Given the description of an element on the screen output the (x, y) to click on. 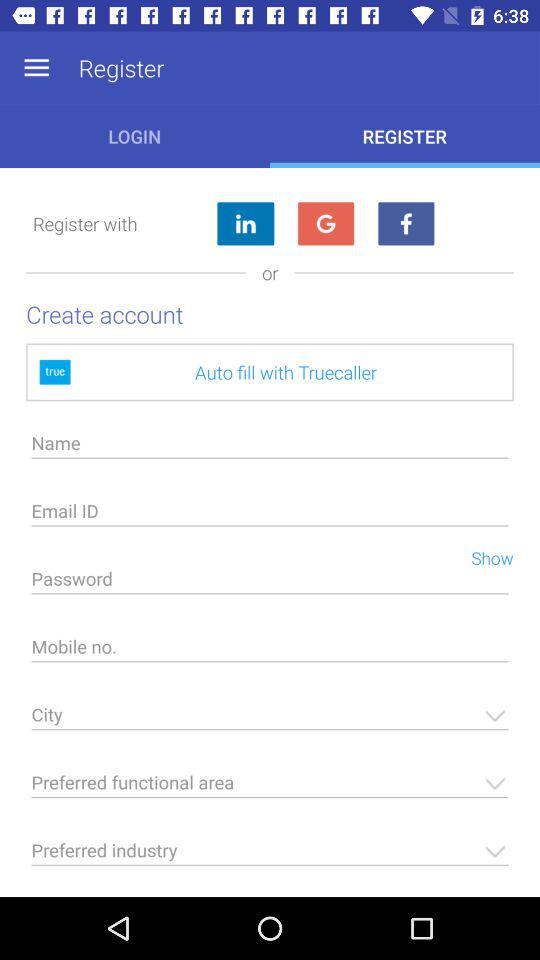
register with a google account (325, 224)
